Given the description of an element on the screen output the (x, y) to click on. 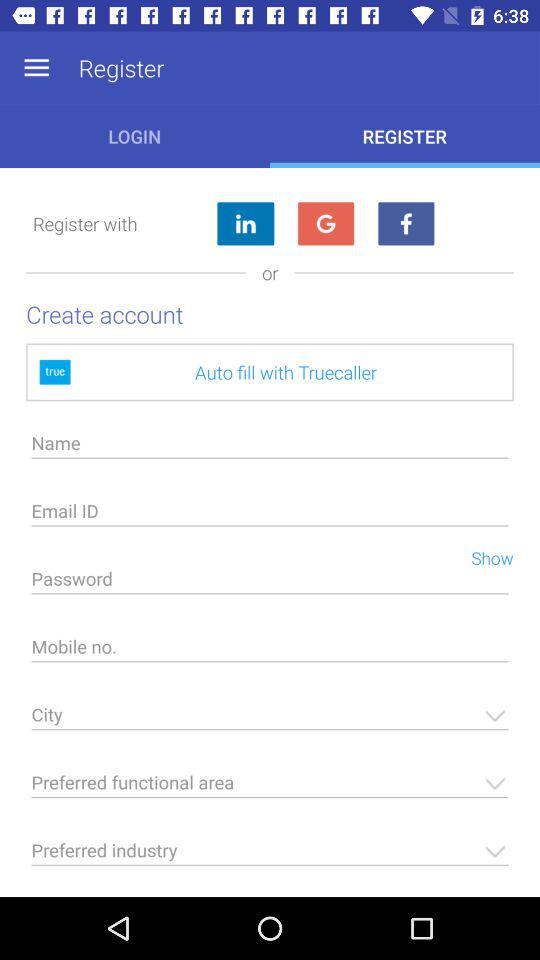
register with a google account (325, 224)
